Given the description of an element on the screen output the (x, y) to click on. 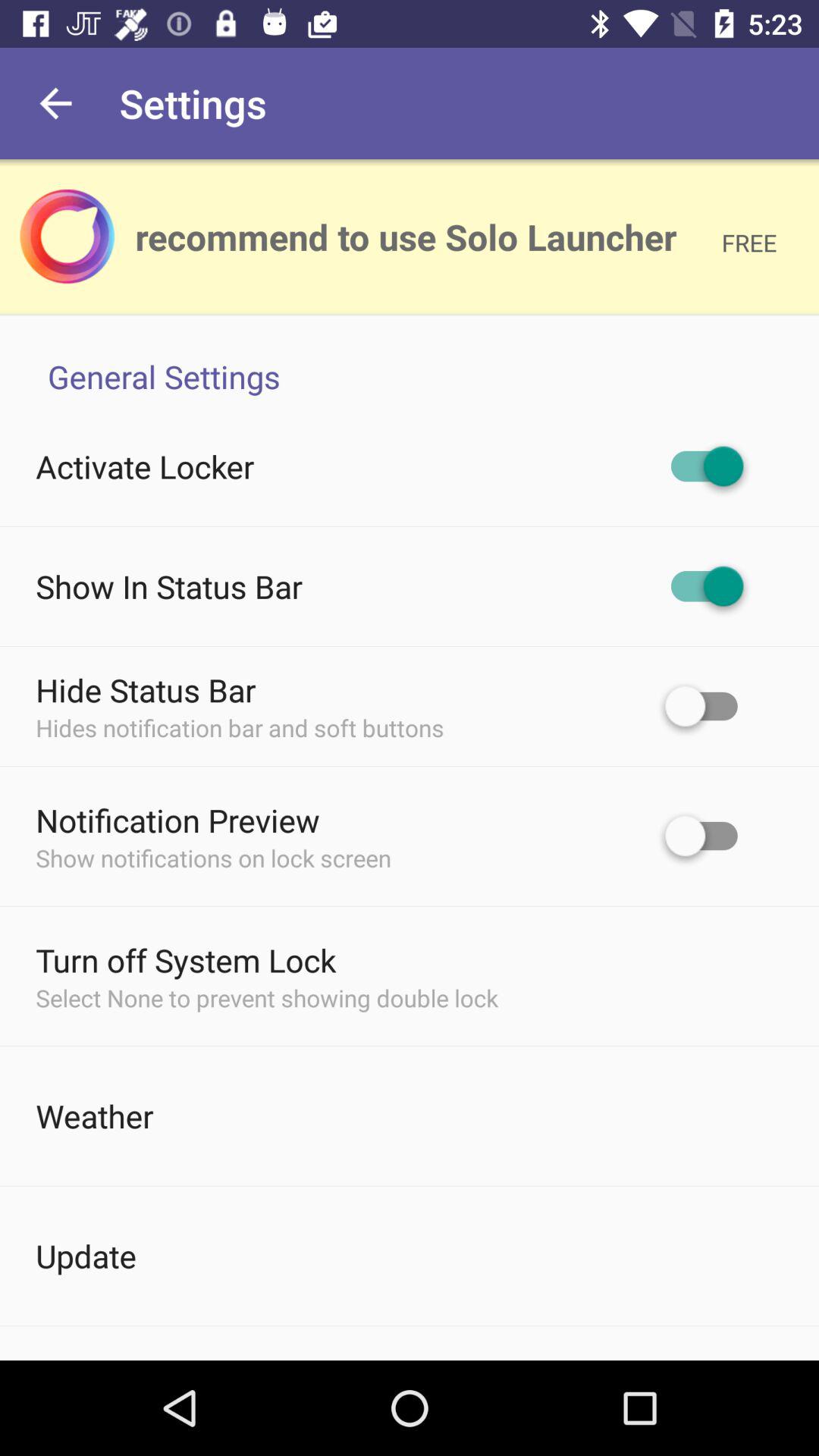
open icon to the left of the settings (55, 103)
